Given the description of an element on the screen output the (x, y) to click on. 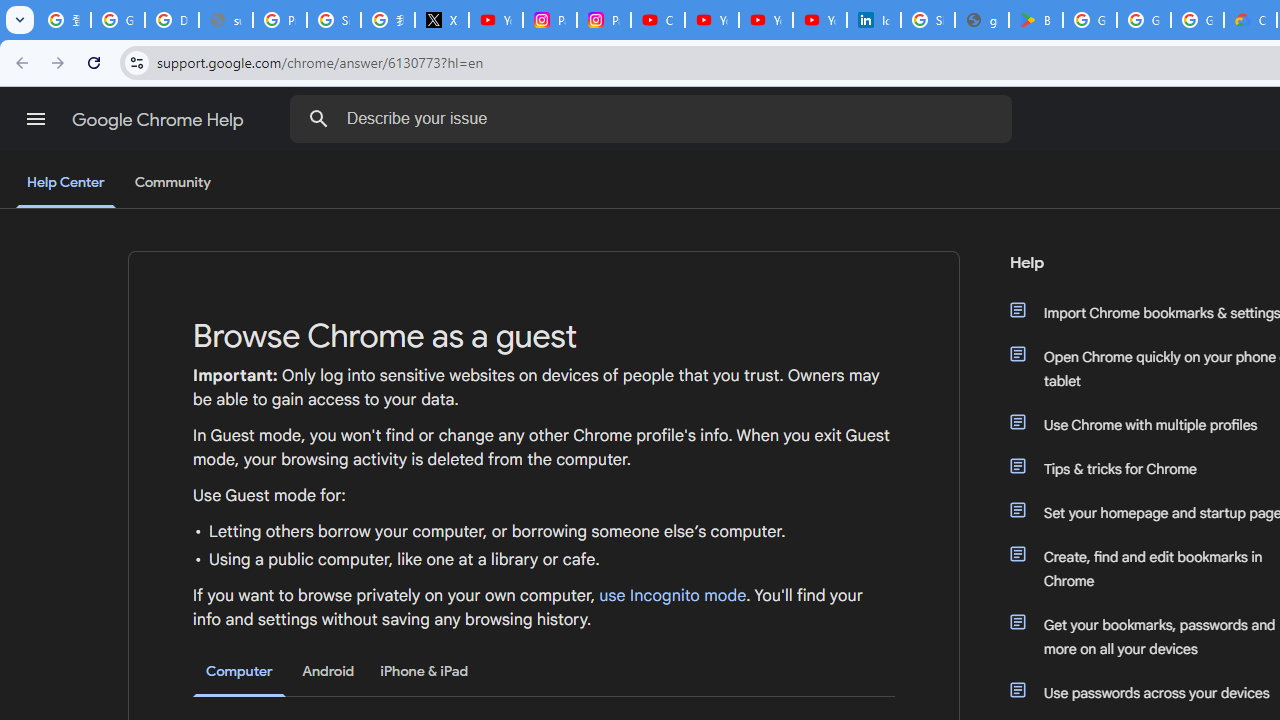
Community (171, 183)
iPhone & iPad (424, 671)
Computer (239, 672)
support.google.com - Network error (225, 20)
YouTube Content Monetization Policies - How YouTube Works (495, 20)
